Given the description of an element on the screen output the (x, y) to click on. 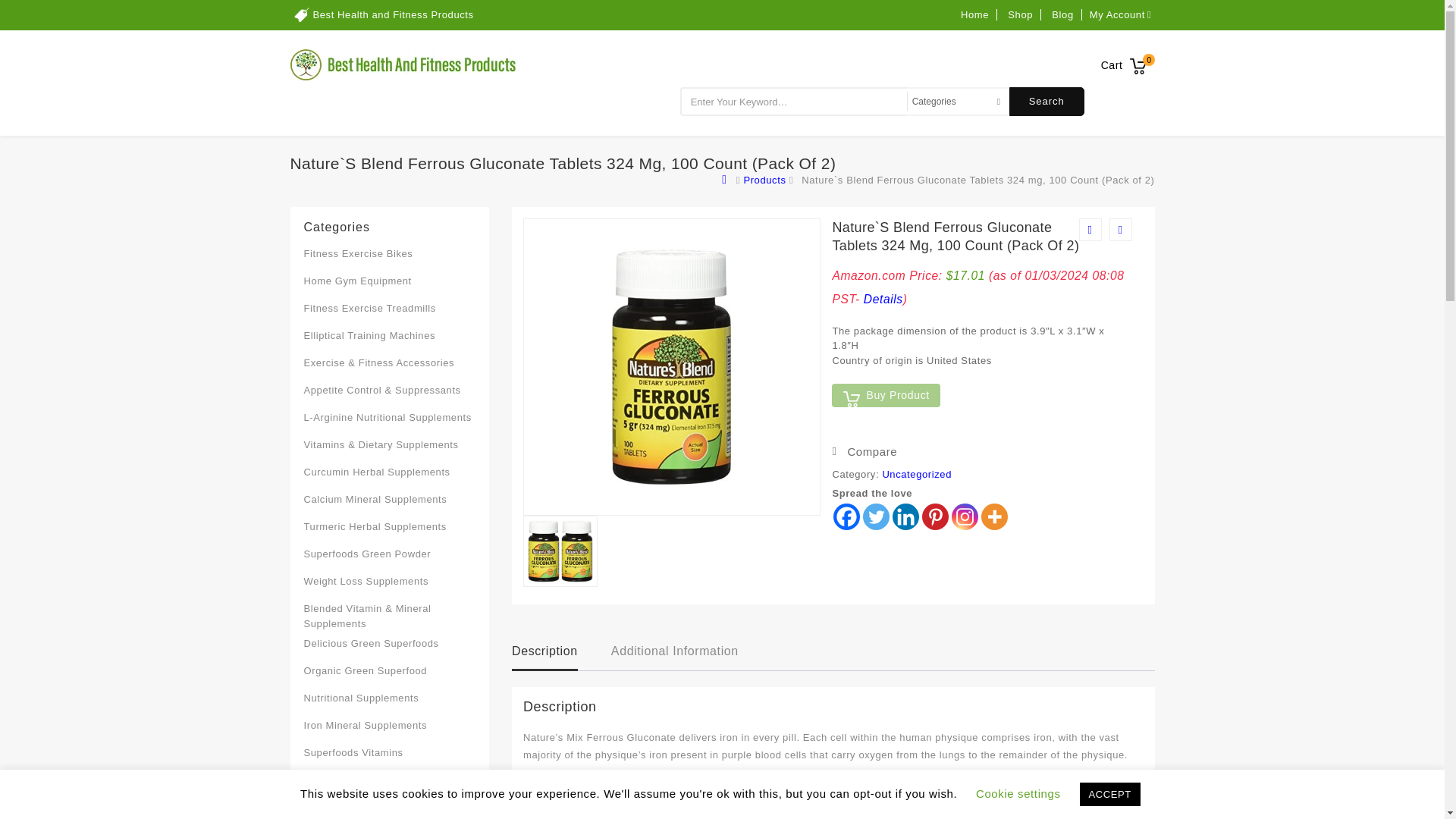
More (994, 516)
Site Title (402, 63)
Best Health And Fitness Products (727, 179)
Linkedin (905, 516)
Pinterest (935, 516)
My Account (1121, 14)
Products (764, 179)
0 (1139, 62)
My Account (1121, 14)
Shop (1019, 14)
Additional Information (674, 651)
Instagram (965, 516)
Buy Product (885, 395)
Uncategorized (917, 473)
Facebook (846, 516)
